Given the description of an element on the screen output the (x, y) to click on. 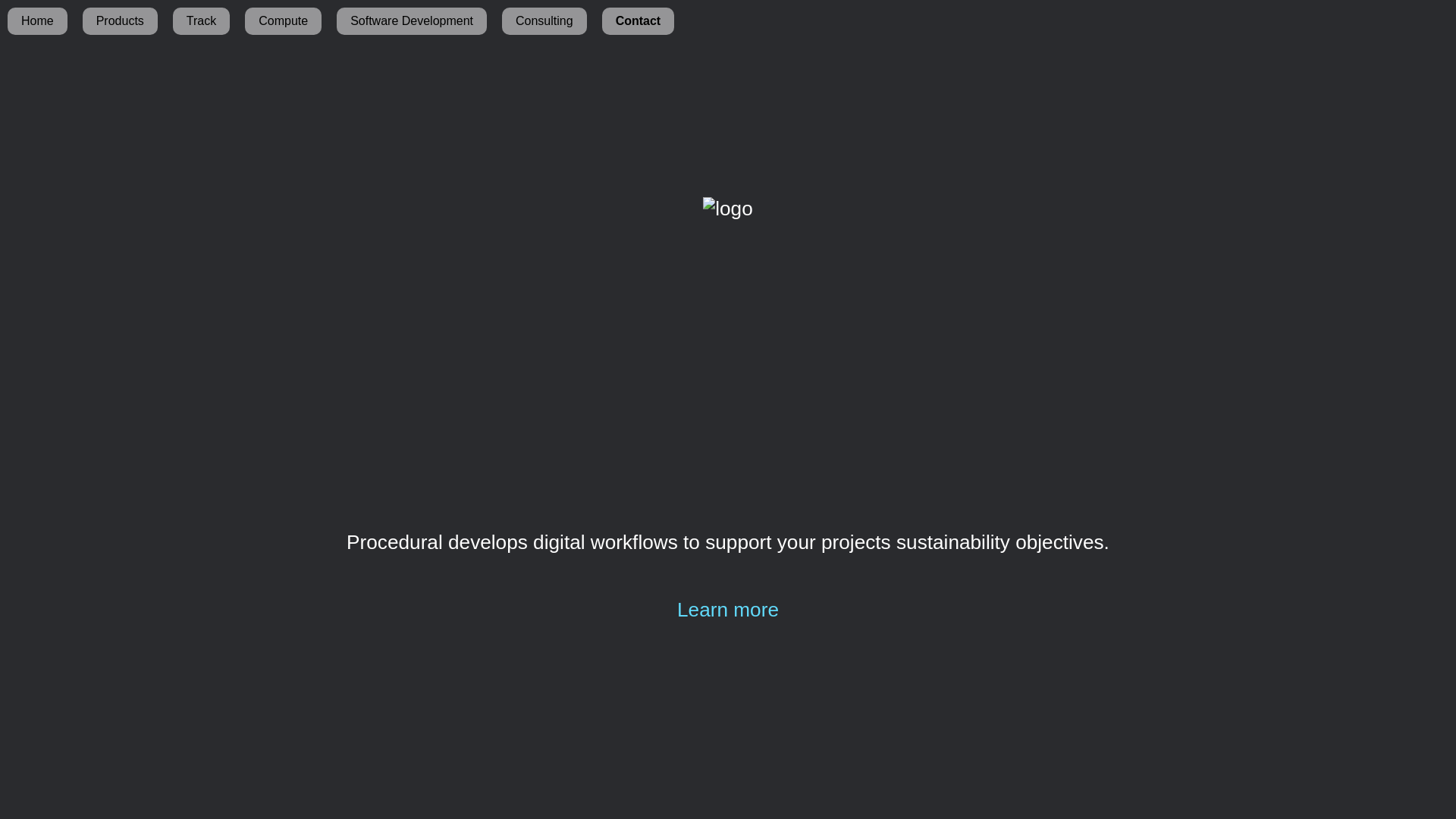
Compute Element type: text (282, 20)
Consulting Element type: text (544, 20)
Software Development Element type: text (411, 20)
Products Element type: text (119, 20)
Home Element type: text (37, 20)
Contact Element type: text (638, 20)
Track Element type: text (200, 20)
Learn more Element type: text (727, 609)
